Given the description of an element on the screen output the (x, y) to click on. 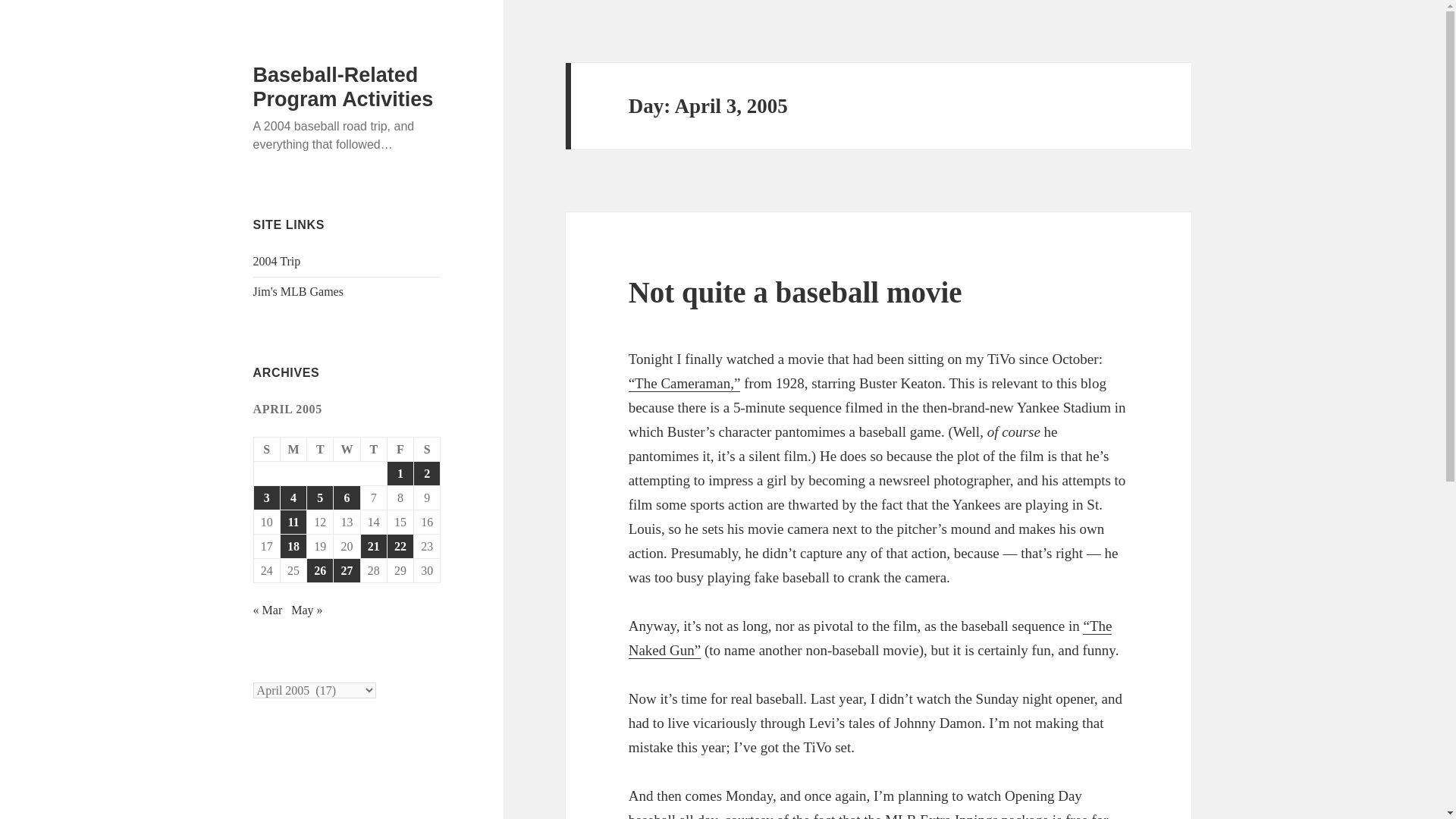
Wednesday (346, 449)
4 (293, 497)
11 games, 11 cities, 10 days (277, 260)
21 (374, 545)
6 (346, 497)
Tuesday (320, 449)
Jim's MLB Games (298, 291)
1 (400, 473)
26 (320, 570)
Monday (294, 449)
Sunday (267, 449)
3 (266, 497)
Thursday (374, 449)
MLB Extra Innings package (966, 815)
Saturday (427, 449)
